Given the description of an element on the screen output the (x, y) to click on. 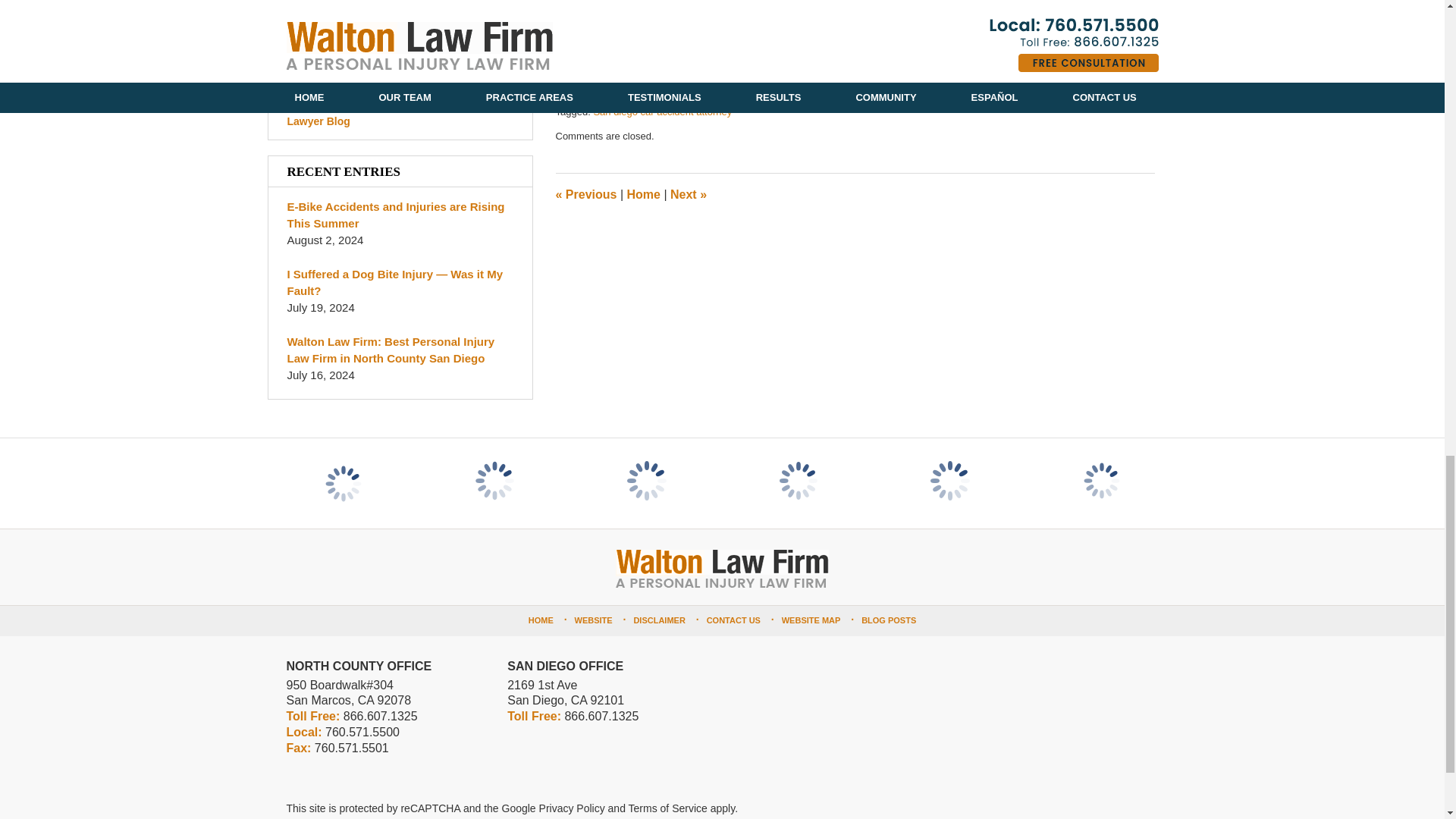
View all posts in Auto Accidents (633, 96)
E-Bike Accidents in Encinitas: What You Should Know (584, 194)
Women and Traumatic Brain Injury Recovery (675, 37)
Driving Safety During the Holidays (687, 194)
San diego car accident attorney (662, 111)
Auto Accidents (633, 96)
View all posts tagged with San diego car accident attorney (662, 111)
E-Bike Accidents in Encinitas: What You Should Know (699, 6)
Home (642, 194)
